Given the description of an element on the screen output the (x, y) to click on. 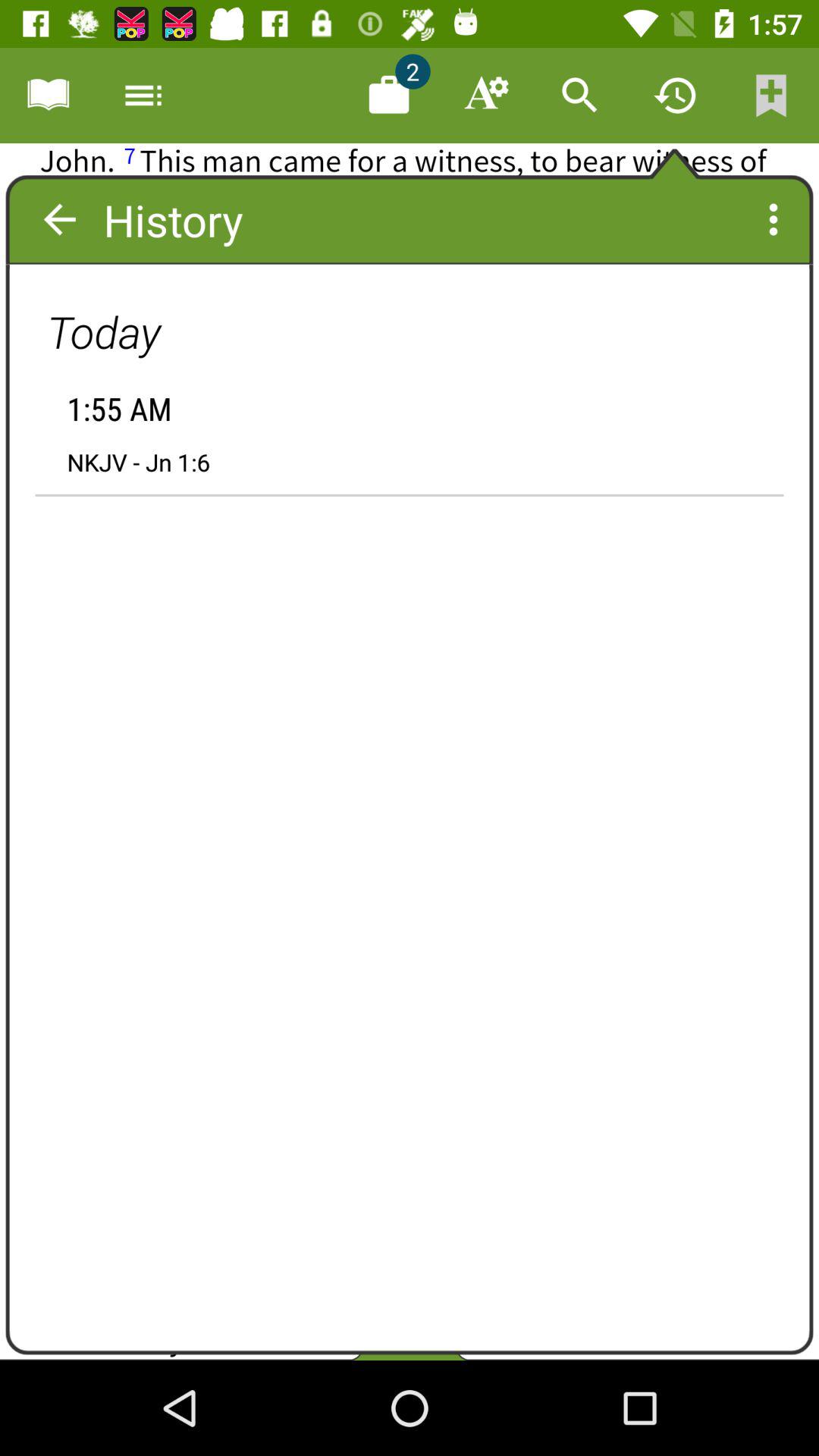
select the icon on right side of numeric 2 (484, 95)
select the second icon which is at the top left (142, 95)
select the icon in which blue color numeric 2 is present (388, 95)
